Given the description of an element on the screen output the (x, y) to click on. 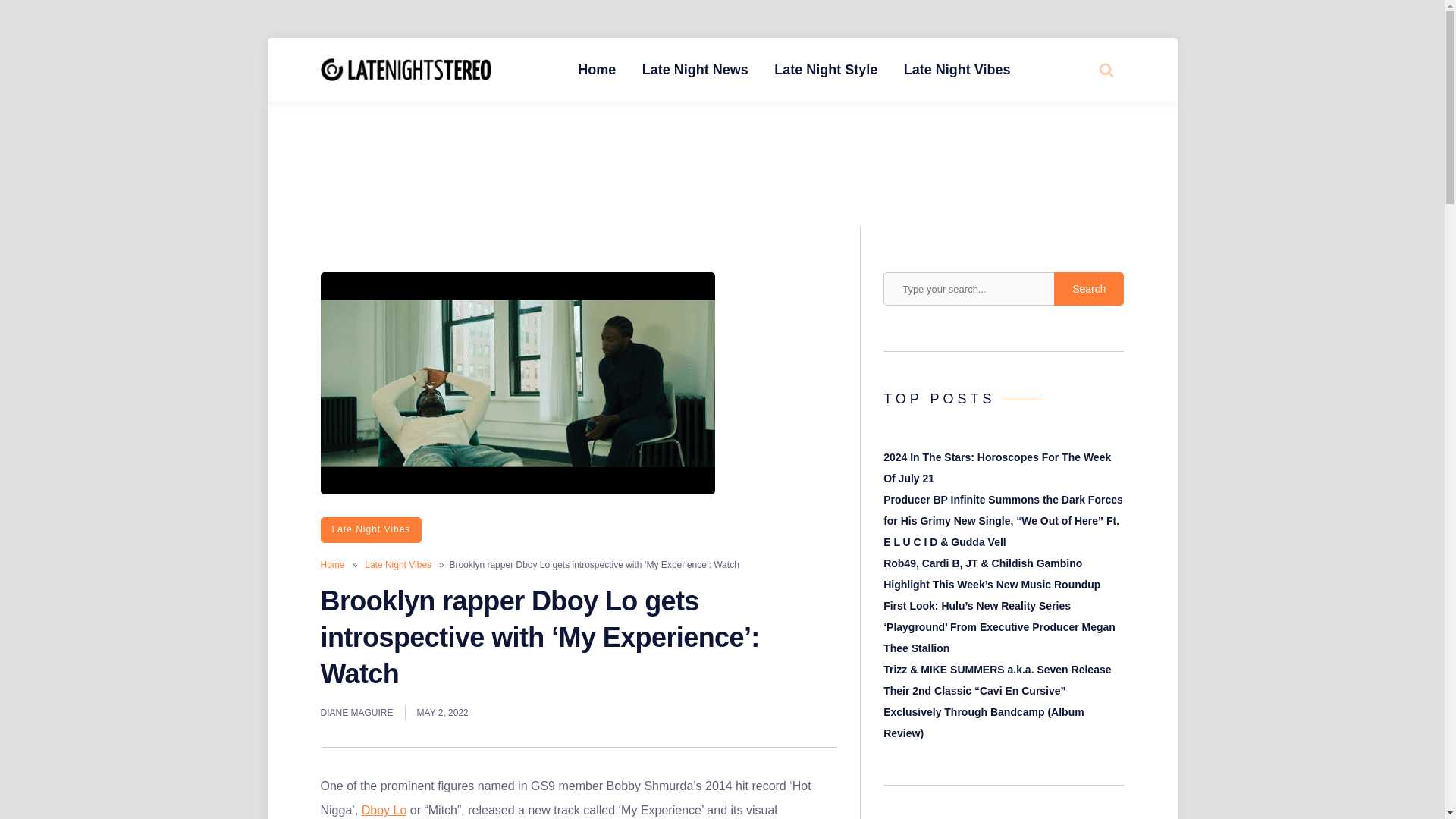
Late Night News (695, 69)
Home (596, 69)
Late Night Vibes (397, 564)
Dboy Lo (384, 809)
Late Night Vibes (957, 69)
Search (1089, 288)
Home (331, 564)
Late Night Vibes (371, 529)
Late Night Style (825, 69)
Search (1074, 127)
DIANE MAGUIRE (356, 713)
Advertisement (721, 135)
LATE NIGHT STEREO (606, 81)
